Given the description of an element on the screen output the (x, y) to click on. 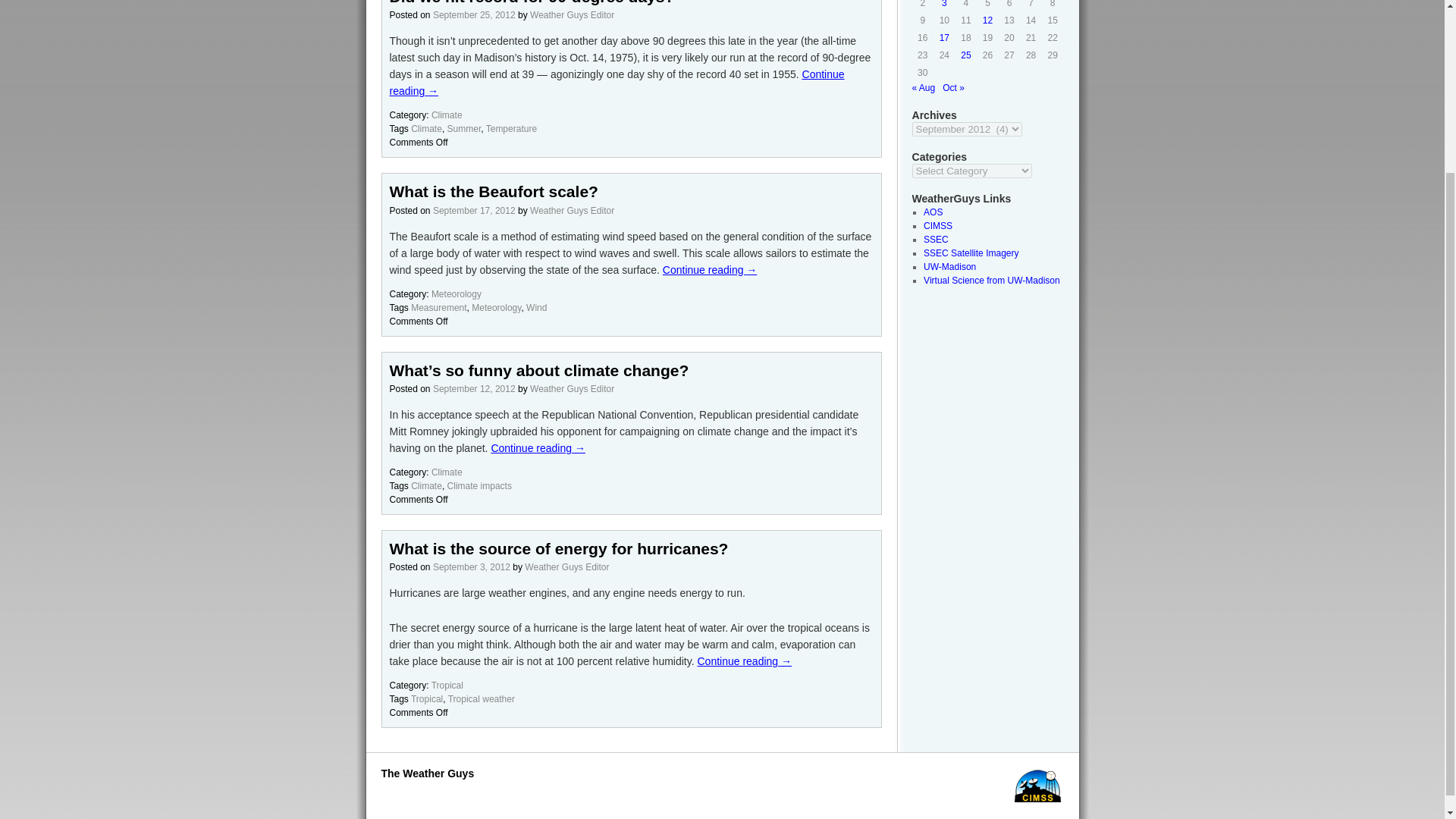
What is the Beaufort scale? (494, 190)
Did we hit record for 90-degree days? (532, 2)
Summer (463, 128)
Climate (426, 128)
9:34 am (473, 210)
September 25, 2012 (473, 14)
Tropical (426, 698)
September 3, 2012 (471, 566)
Tropical (446, 685)
Weather Guys Editor (566, 566)
9:49 am (471, 566)
Climate impacts (479, 485)
Weather Guys Editor (571, 210)
Meteorology (455, 294)
Permalink to Did we hit record for 90-degree days? (532, 2)
